Given the description of an element on the screen output the (x, y) to click on. 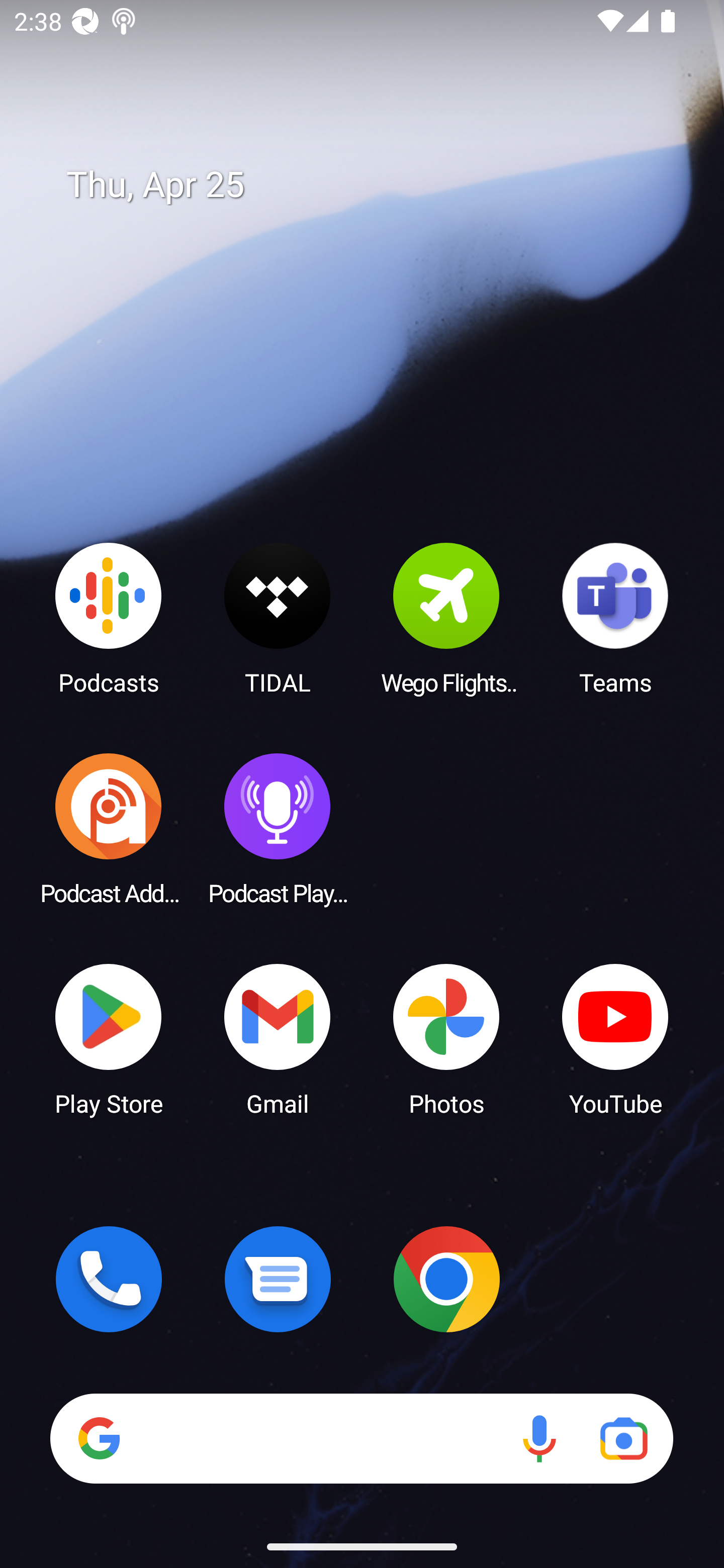
Thu, Apr 25 (375, 184)
Podcasts (108, 617)
TIDAL (277, 617)
Wego Flights & Hotels (445, 617)
Teams (615, 617)
Podcast Addict (108, 828)
Podcast Player (277, 828)
Play Store (108, 1038)
Gmail (277, 1038)
Photos (445, 1038)
YouTube (615, 1038)
Phone (108, 1279)
Messages (277, 1279)
Chrome (446, 1279)
Search Voice search Google Lens (361, 1438)
Voice search (539, 1438)
Google Lens (623, 1438)
